Given the description of an element on the screen output the (x, y) to click on. 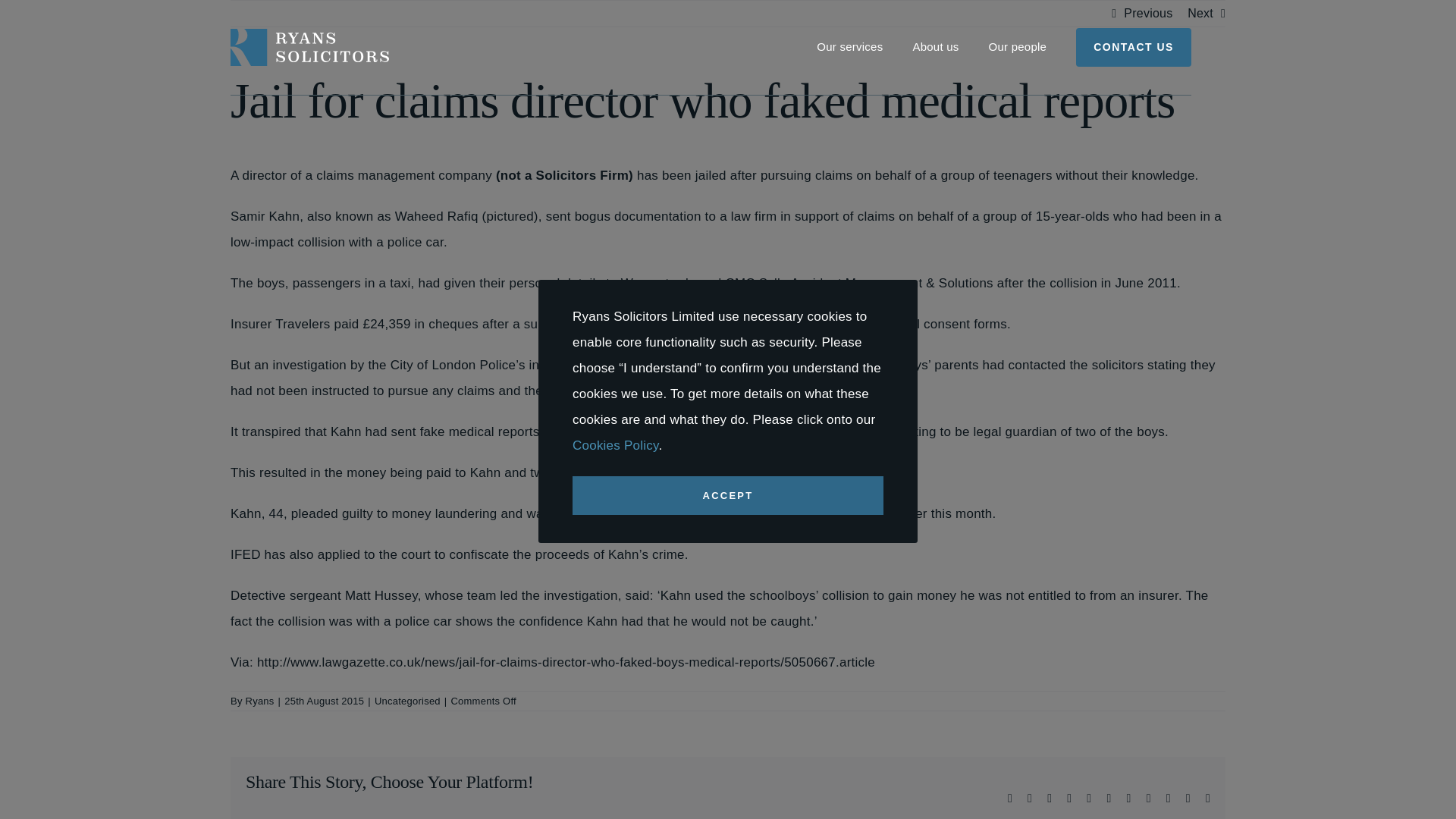
Pinterest (1149, 798)
Telegram (1108, 798)
Tumblr (1128, 798)
Ryans (260, 700)
Reddit (1048, 798)
Previous (1148, 13)
X (1029, 798)
Gazette (564, 662)
Our services (864, 47)
About us (950, 47)
Email (1207, 798)
LinkedIn (1069, 798)
Facebook (1009, 798)
Uncategorised (407, 700)
Facebook (1009, 798)
